Given the description of an element on the screen output the (x, y) to click on. 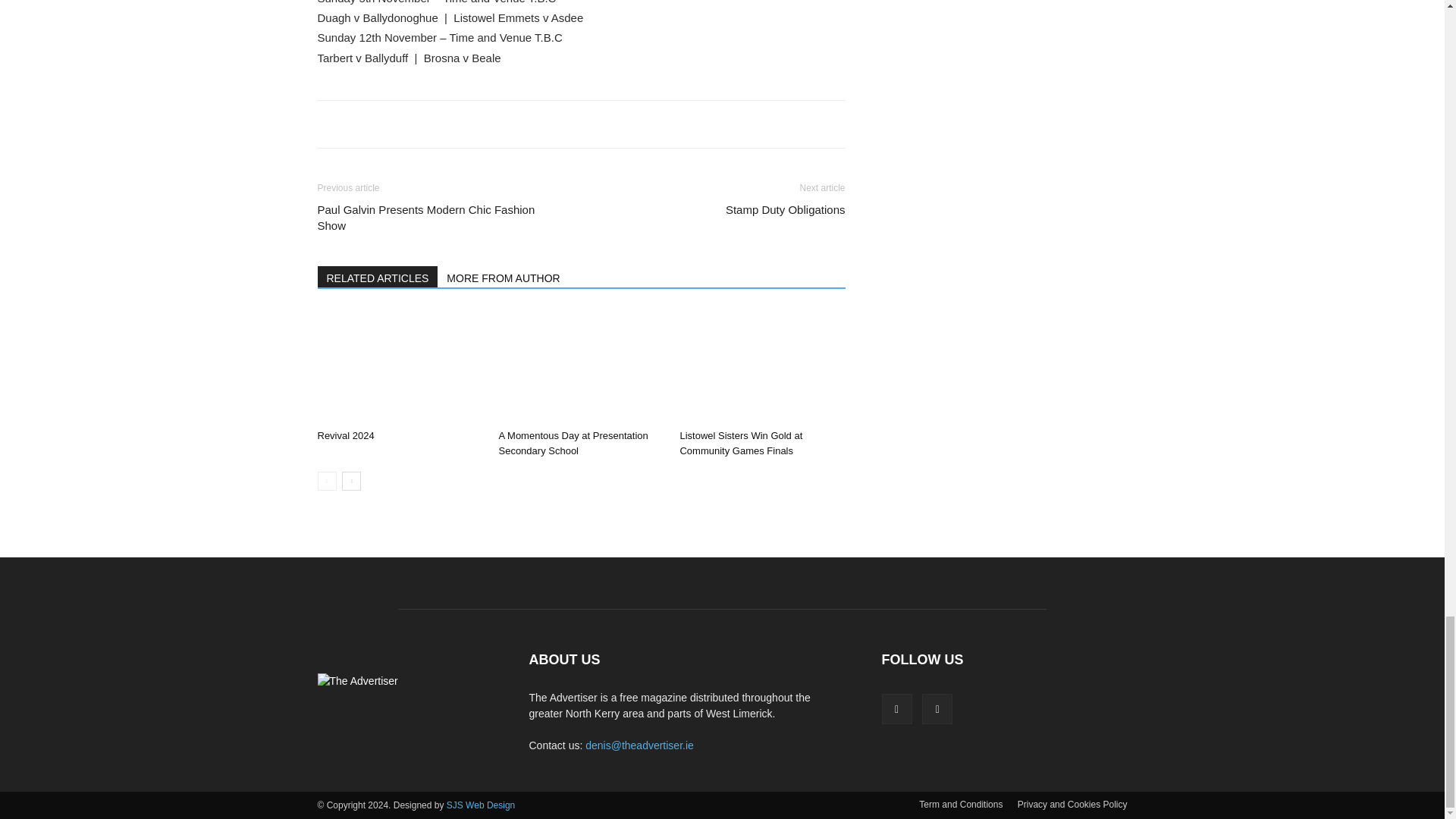
A Momentous Day at Presentation Secondary School (580, 366)
Revival 2024 (345, 435)
bottomFacebookLike (430, 124)
Revival 2024 (399, 366)
